Given the description of an element on the screen output the (x, y) to click on. 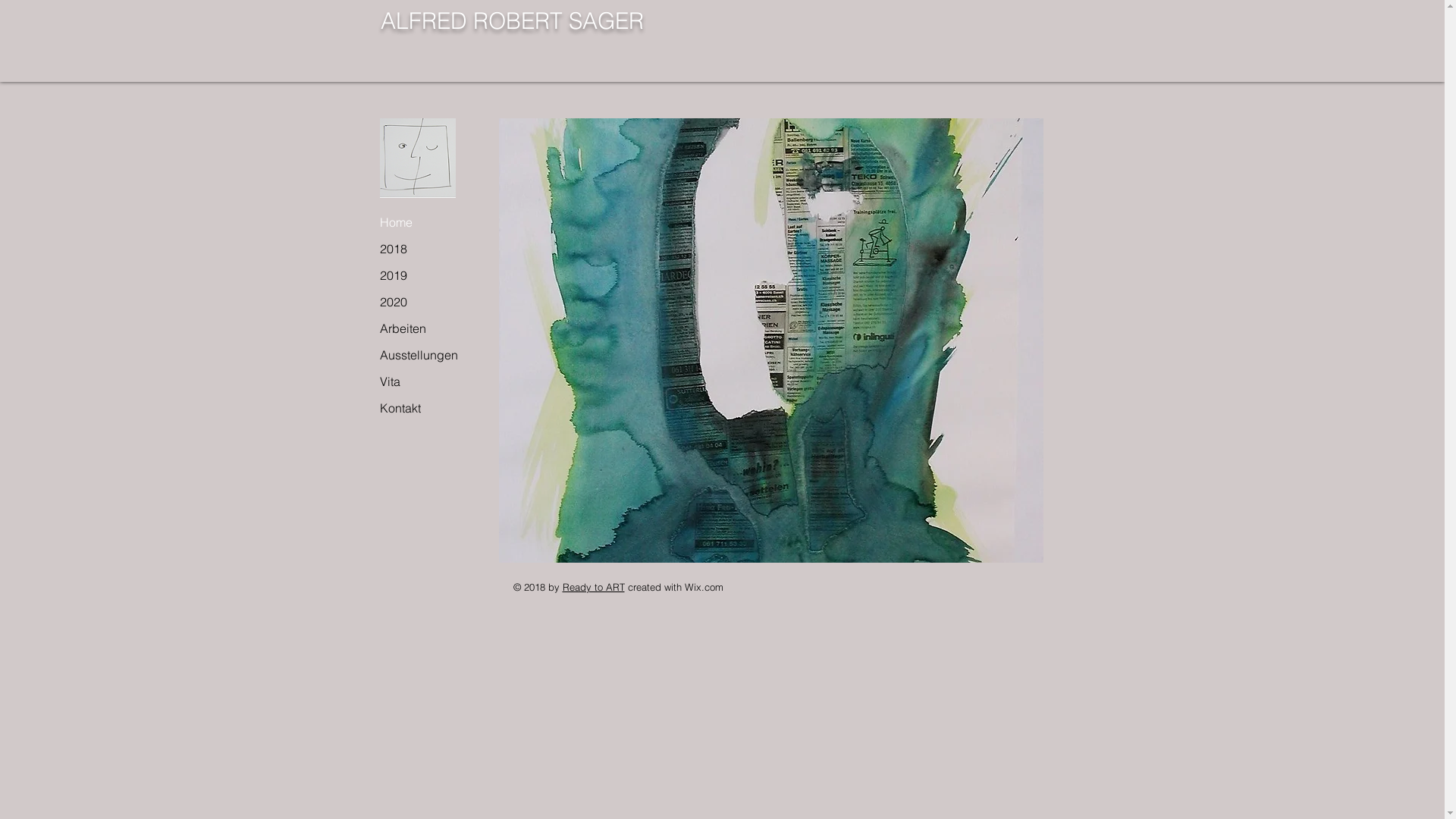
2020 Element type: text (421, 301)
2018 Element type: text (421, 248)
Kontakt Element type: text (421, 408)
Ausstellungen Element type: text (421, 355)
2019 Element type: text (421, 275)
Vita Element type: text (421, 381)
Arbeiten Element type: text (421, 328)
Ready to ART Element type: text (593, 586)
Wix.com Element type: text (703, 586)
Home Element type: text (421, 222)
ALFRED ROBERT SAGER  Element type: text (514, 20)
